Given the description of an element on the screen output the (x, y) to click on. 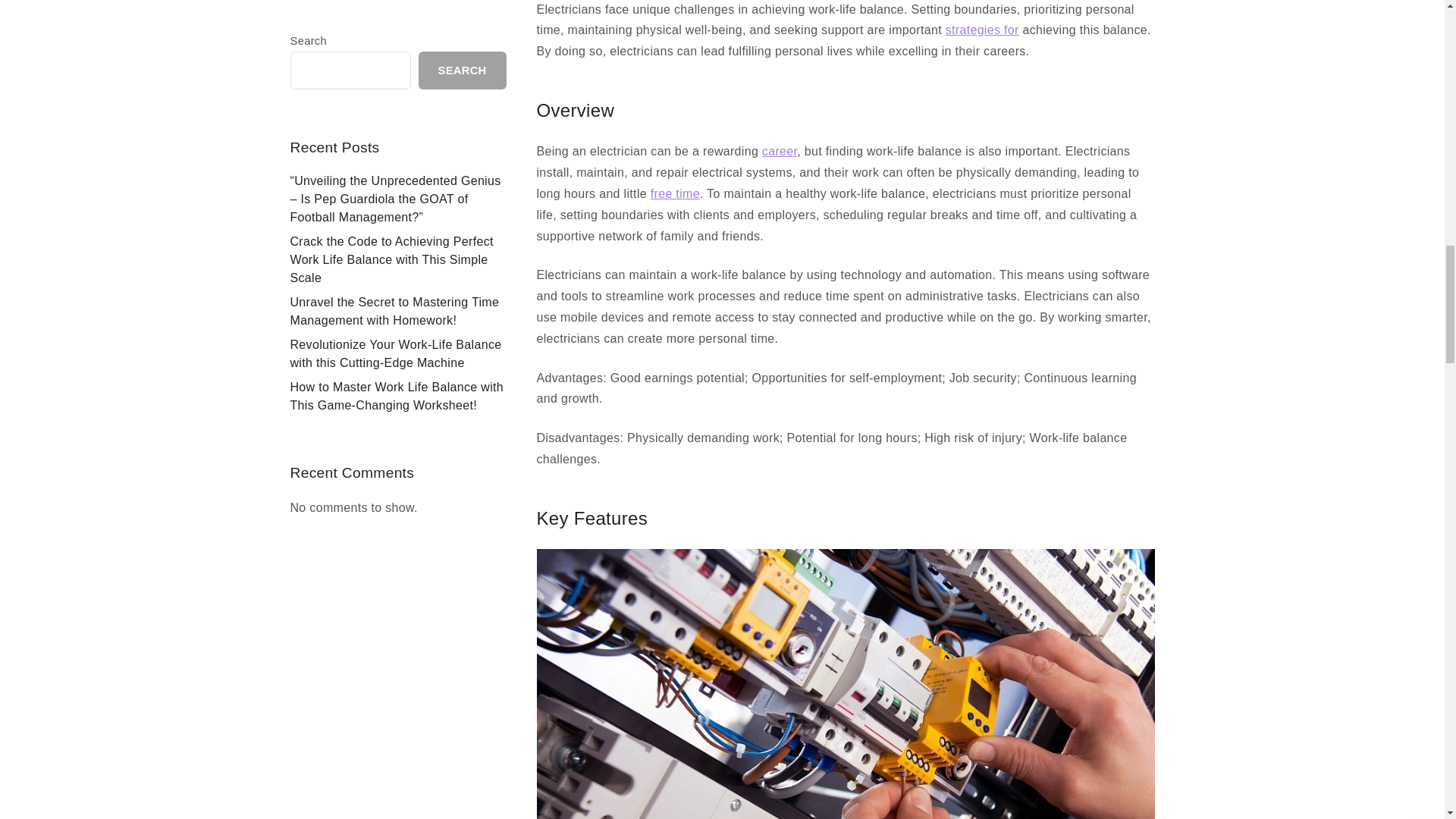
free time (675, 193)
strategies for (981, 29)
career (778, 151)
